Given the description of an element on the screen output the (x, y) to click on. 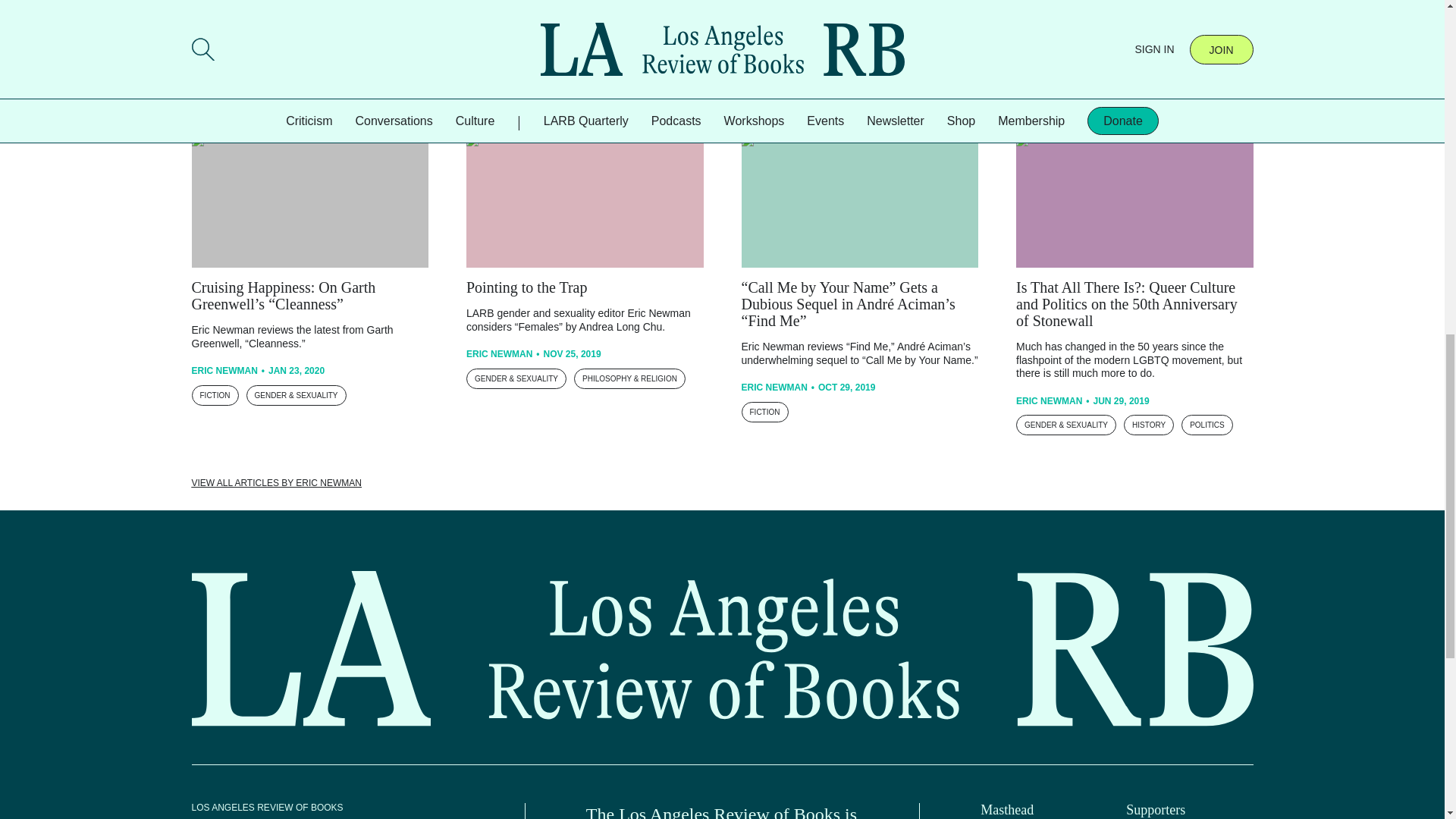
ERIC NEWMAN (498, 26)
ERIC NEWMAN (774, 22)
ERIC NEWMAN (223, 22)
SF (311, 46)
LARB LIT (931, 46)
AROUND THE WORLD (514, 50)
HISTORY (873, 46)
